Given the description of an element on the screen output the (x, y) to click on. 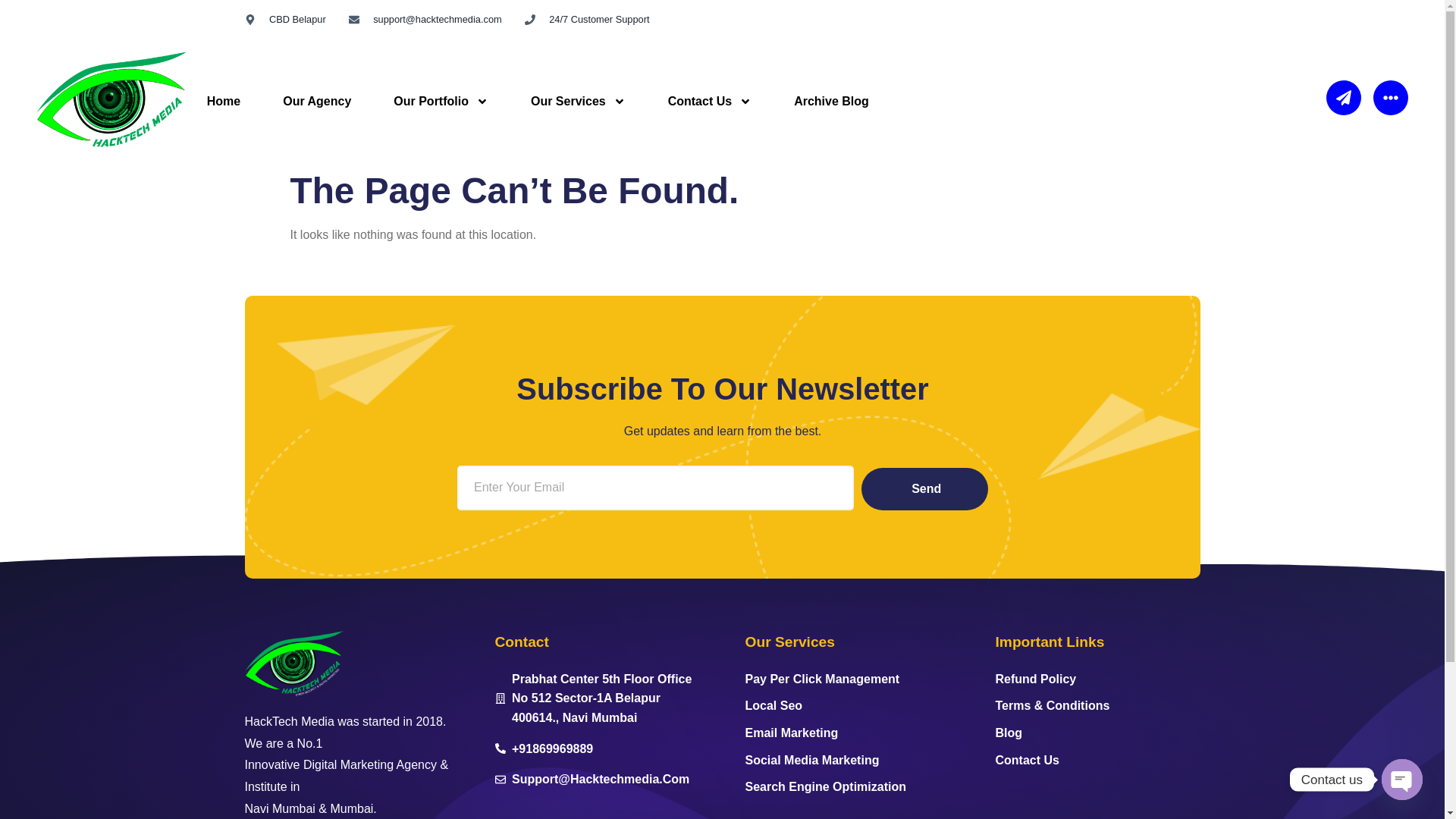
Our Services (578, 83)
Archive Blog (831, 95)
Home (223, 76)
Our Portfolio (441, 79)
Send (924, 487)
Contact Us (709, 93)
Our Agency (317, 78)
